Given the description of an element on the screen output the (x, y) to click on. 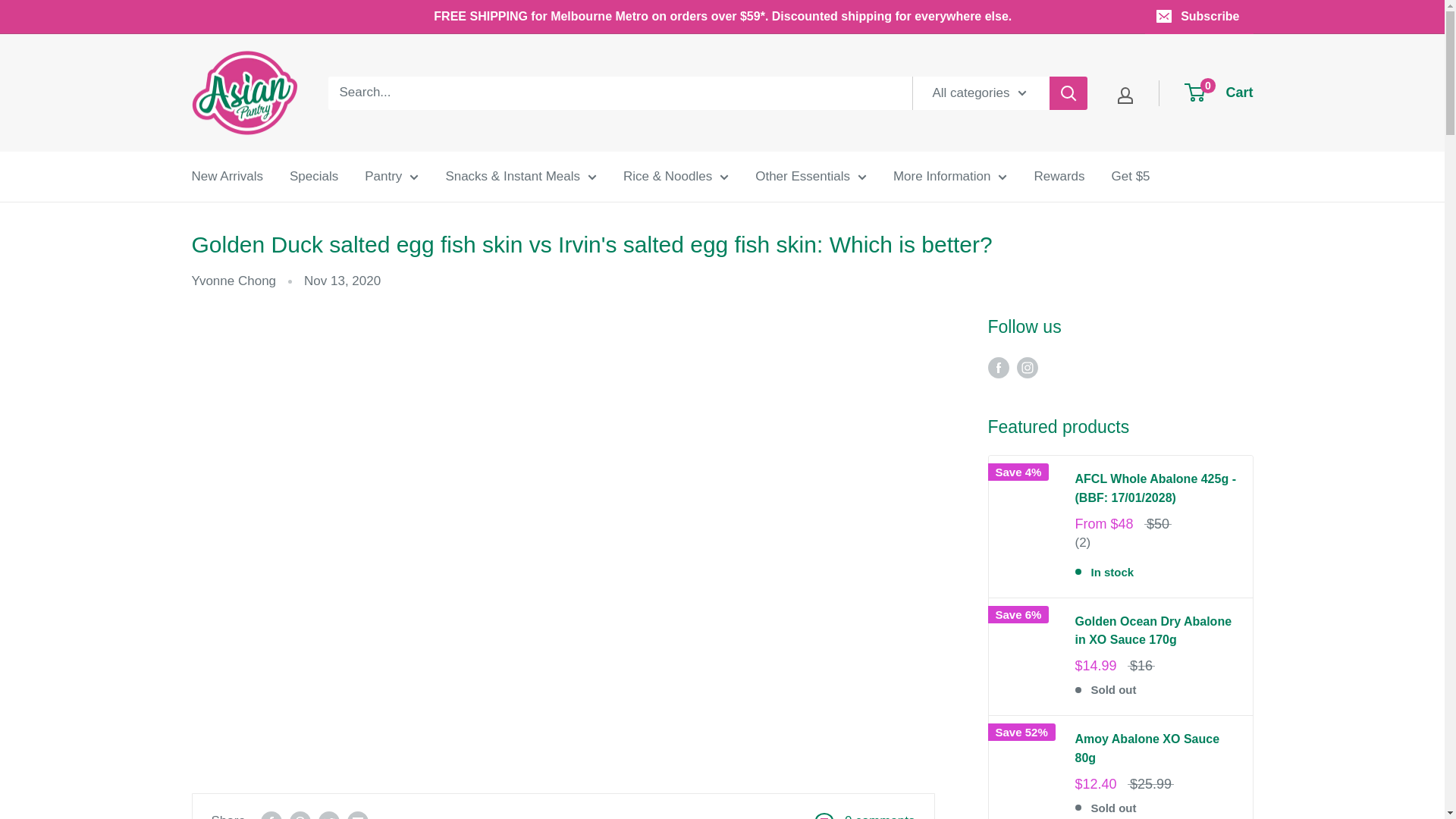
Subscribe (1198, 16)
